Given the description of an element on the screen output the (x, y) to click on. 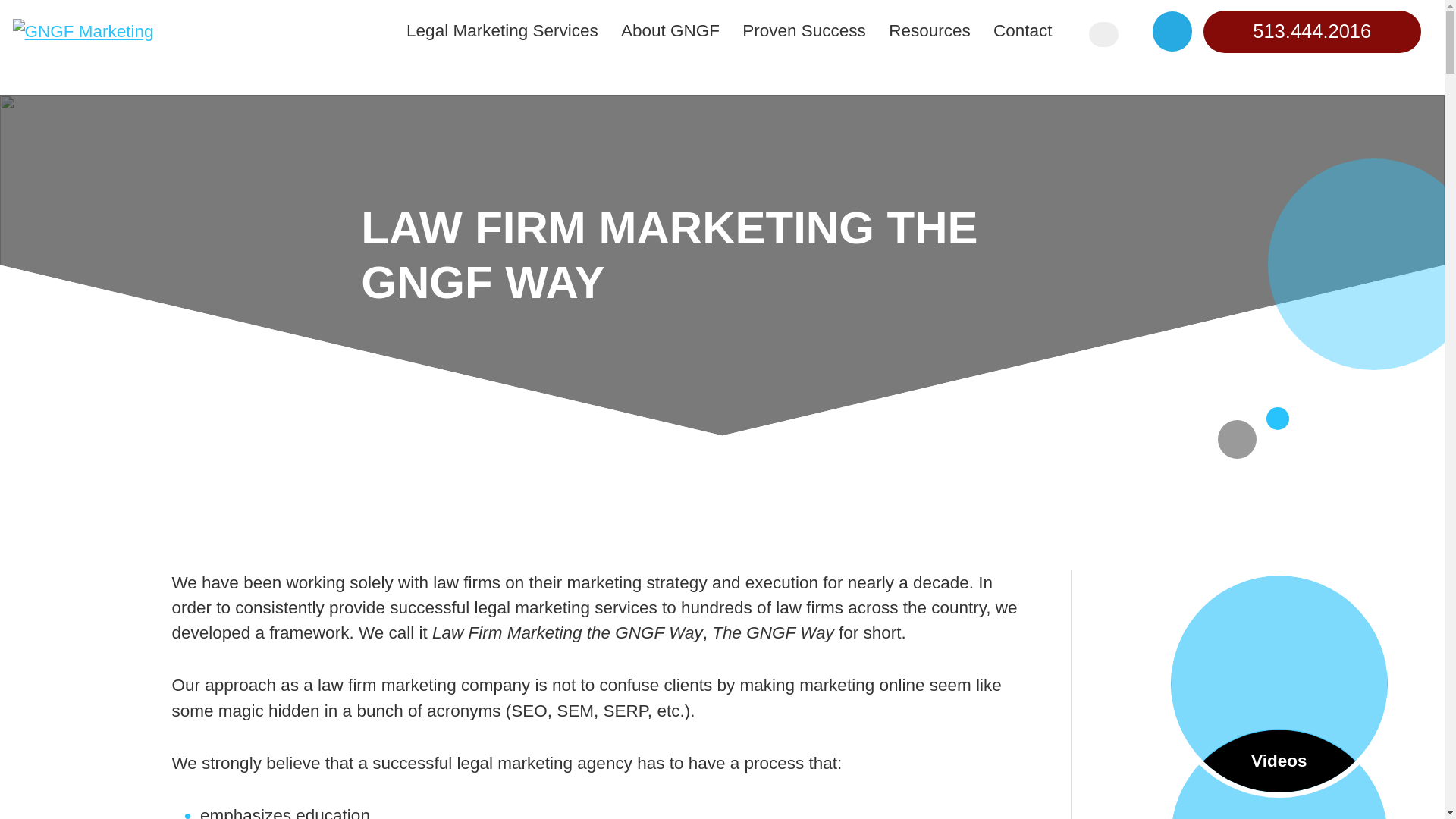
513.444.2016 (1312, 31)
Search (1103, 34)
Search (1103, 34)
Search (1103, 34)
